Given the description of an element on the screen output the (x, y) to click on. 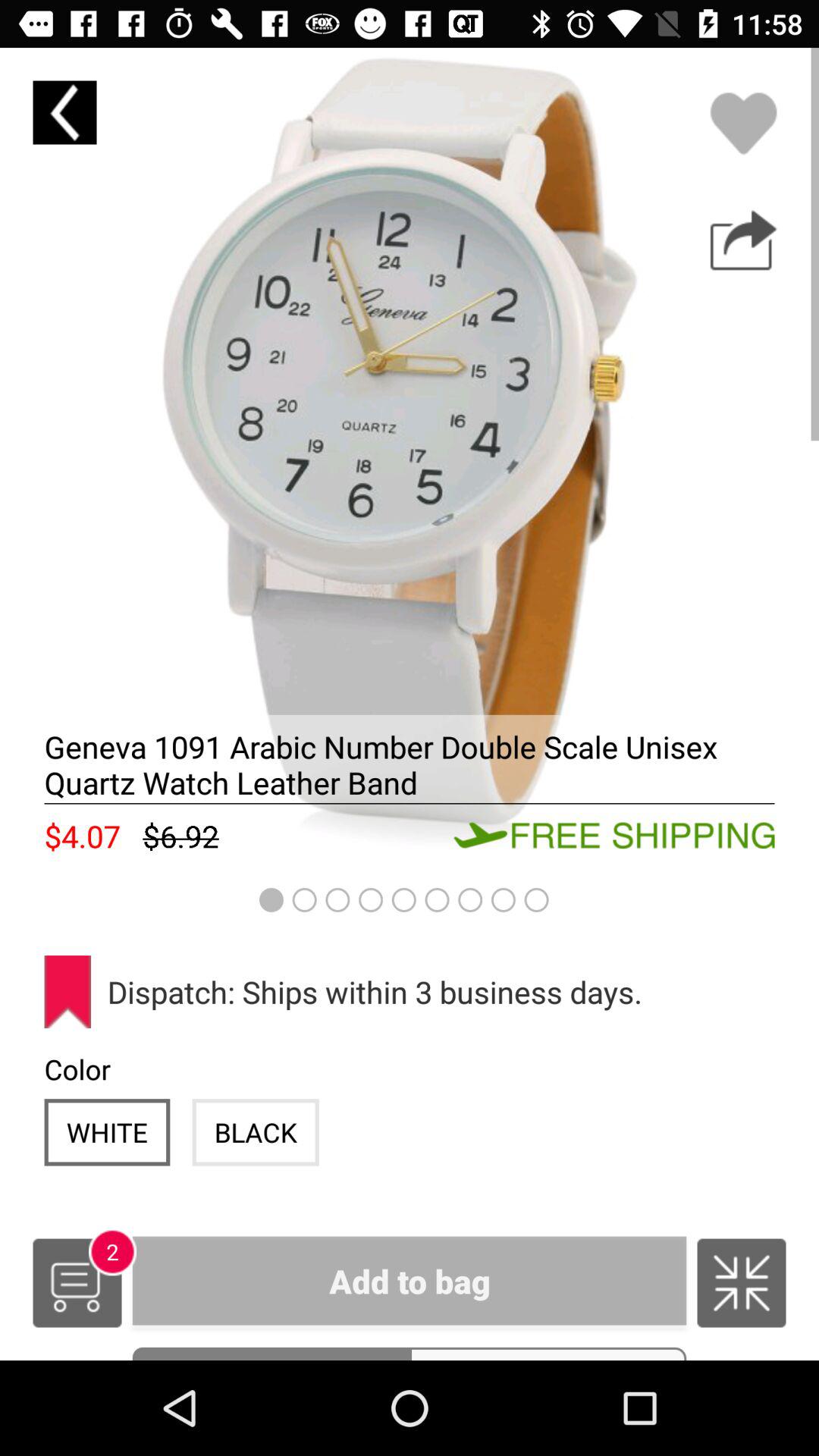
launch item to the right of detail (547, 1353)
